Given the description of an element on the screen output the (x, y) to click on. 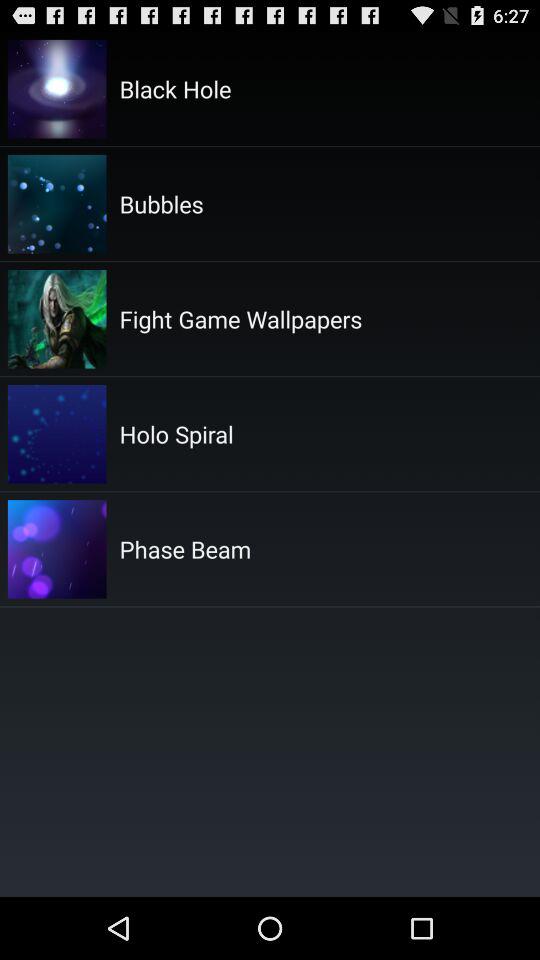
launch icon above the holo spiral item (240, 318)
